Given the description of an element on the screen output the (x, y) to click on. 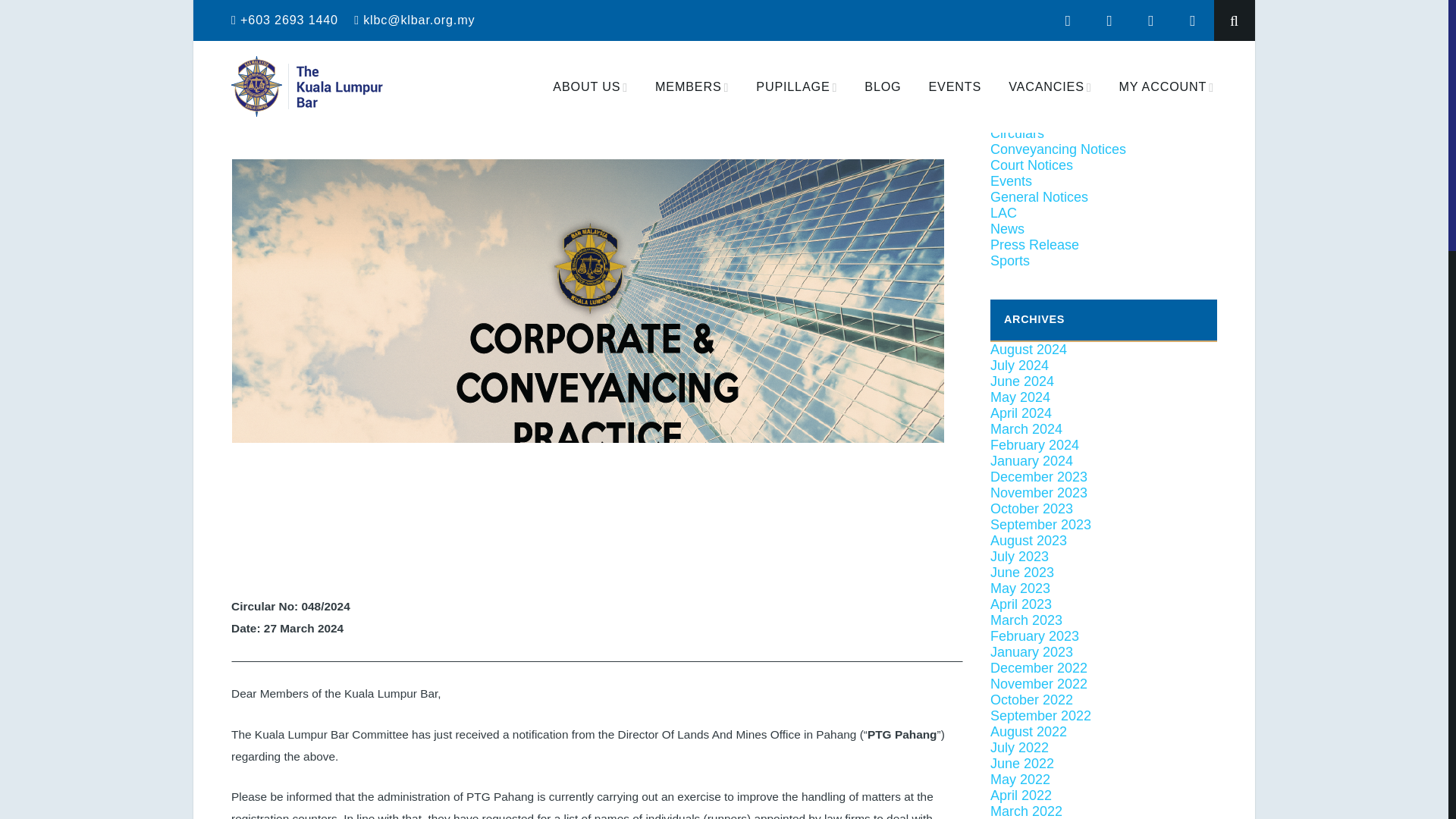
General Notices (1038, 196)
EVENTS (955, 86)
Conveyancing Notices (882, 86)
Court Notices (1057, 149)
PUPILLAGE (1031, 165)
News (796, 86)
Stream us on Youtube (362, 120)
Follow us on Facebook (1151, 20)
Circulars (1068, 20)
Follow us on Flickr (1016, 133)
Search (1192, 20)
BLOG (1078, 45)
Follow us on Twitter (882, 86)
Events (1110, 20)
